Given the description of an element on the screen output the (x, y) to click on. 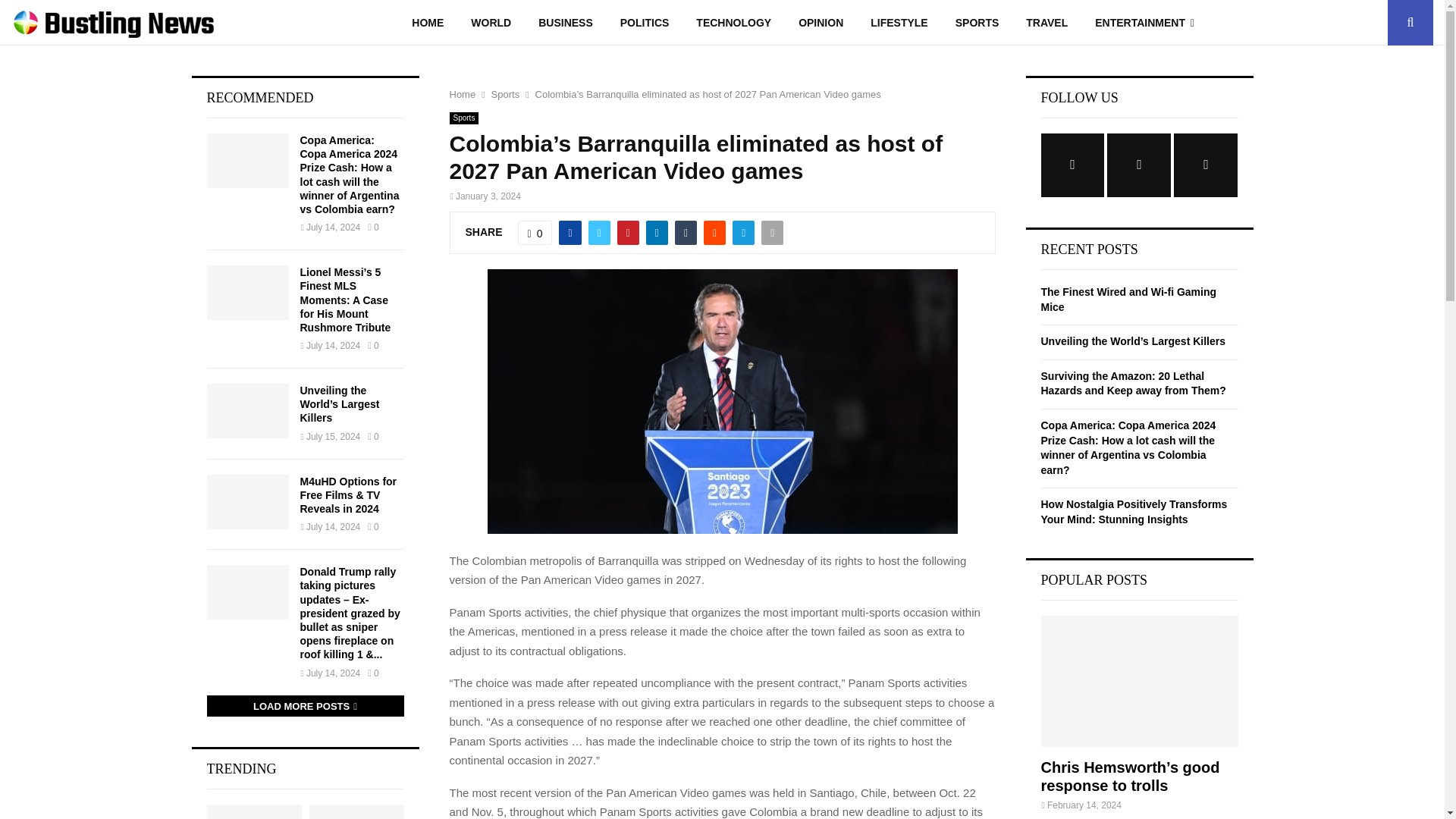
Home (462, 93)
LIFESTYLE (898, 22)
BUSINESS (565, 22)
0 (535, 232)
Sports (463, 118)
TRAVEL (1046, 22)
ENTERTAINMENT (1144, 22)
Sports (505, 93)
POLITICS (644, 22)
SPORTS (977, 22)
HOME (427, 22)
TECHNOLOGY (733, 22)
OPINION (820, 22)
Like (535, 232)
WORLD (490, 22)
